Given the description of an element on the screen output the (x, y) to click on. 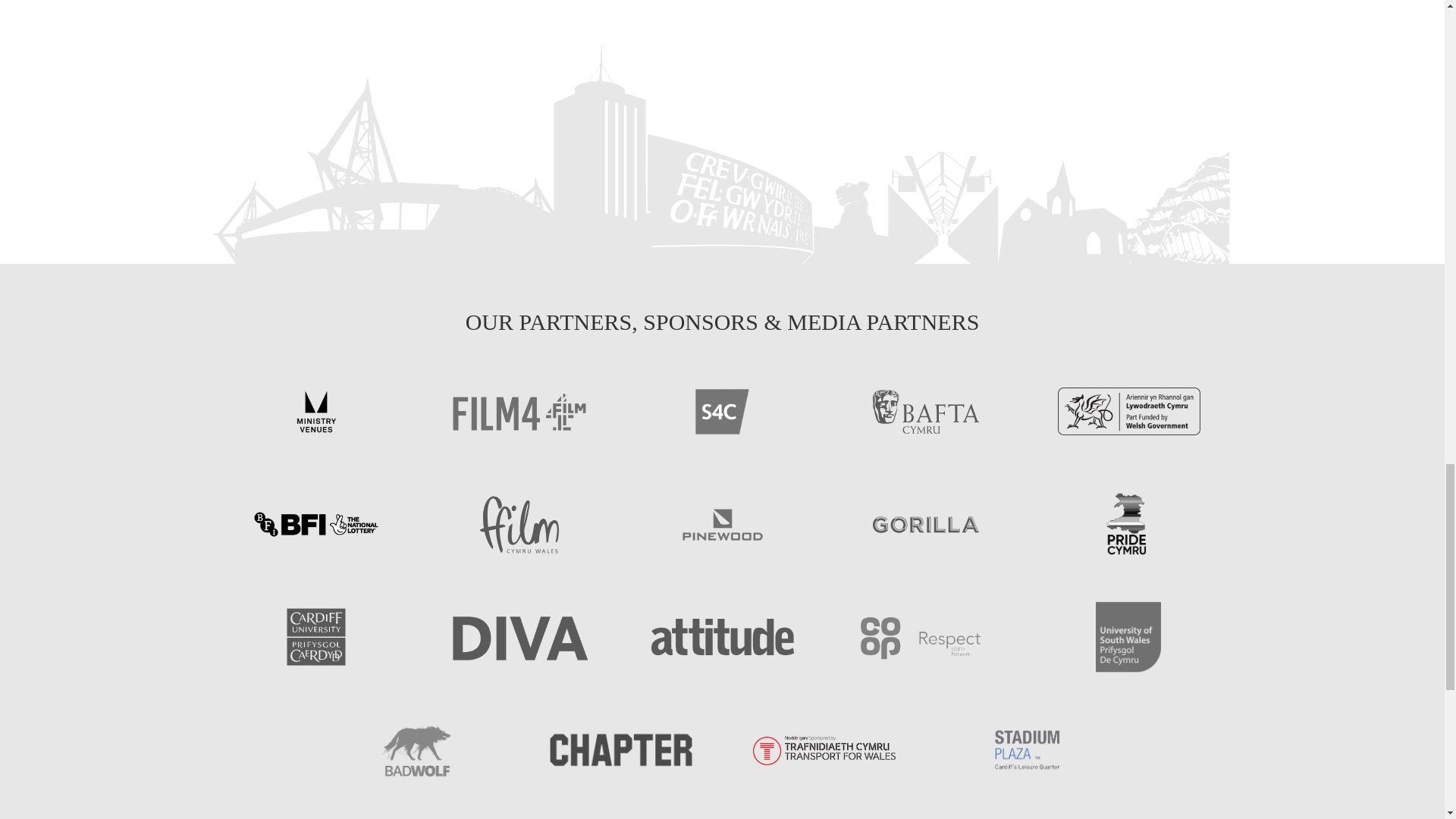
Ffilm (517, 524)
Pinewood (721, 524)
Transport For Wales (823, 749)
University of South Wales (1128, 636)
Pride Cymru (1128, 524)
Ministry Venues (315, 411)
Bad Wolf (416, 749)
S4C (721, 411)
Cardiff University (315, 636)
Chapter (619, 749)
BAFTA Cymru (924, 411)
Film4 (517, 411)
Co-op (924, 636)
Attitude (721, 636)
Gorilla (924, 524)
